Given the description of an element on the screen output the (x, y) to click on. 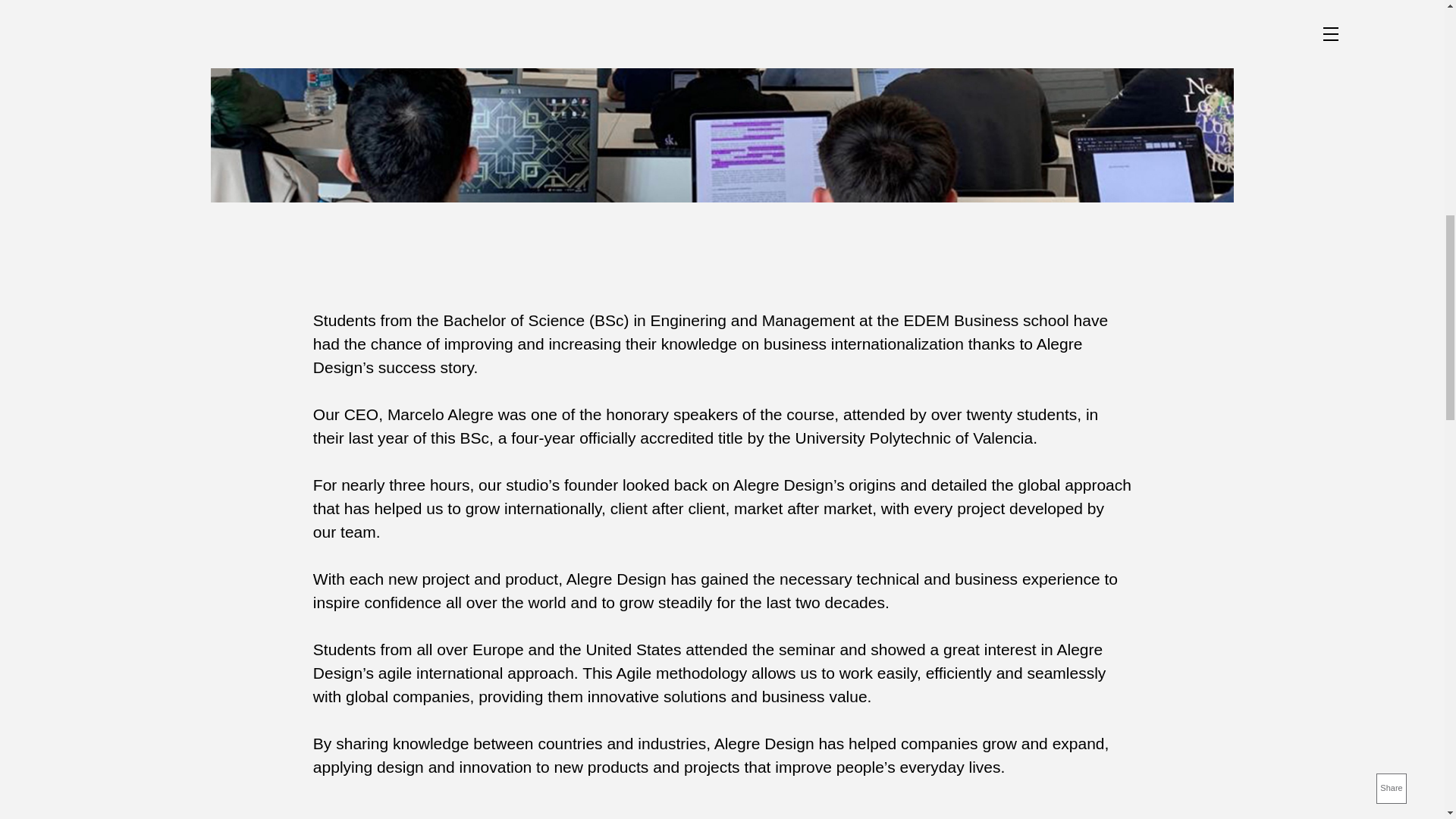
University Polytechnic of Valencia (913, 437)
EDEM Business school (985, 320)
